Given the description of an element on the screen output the (x, y) to click on. 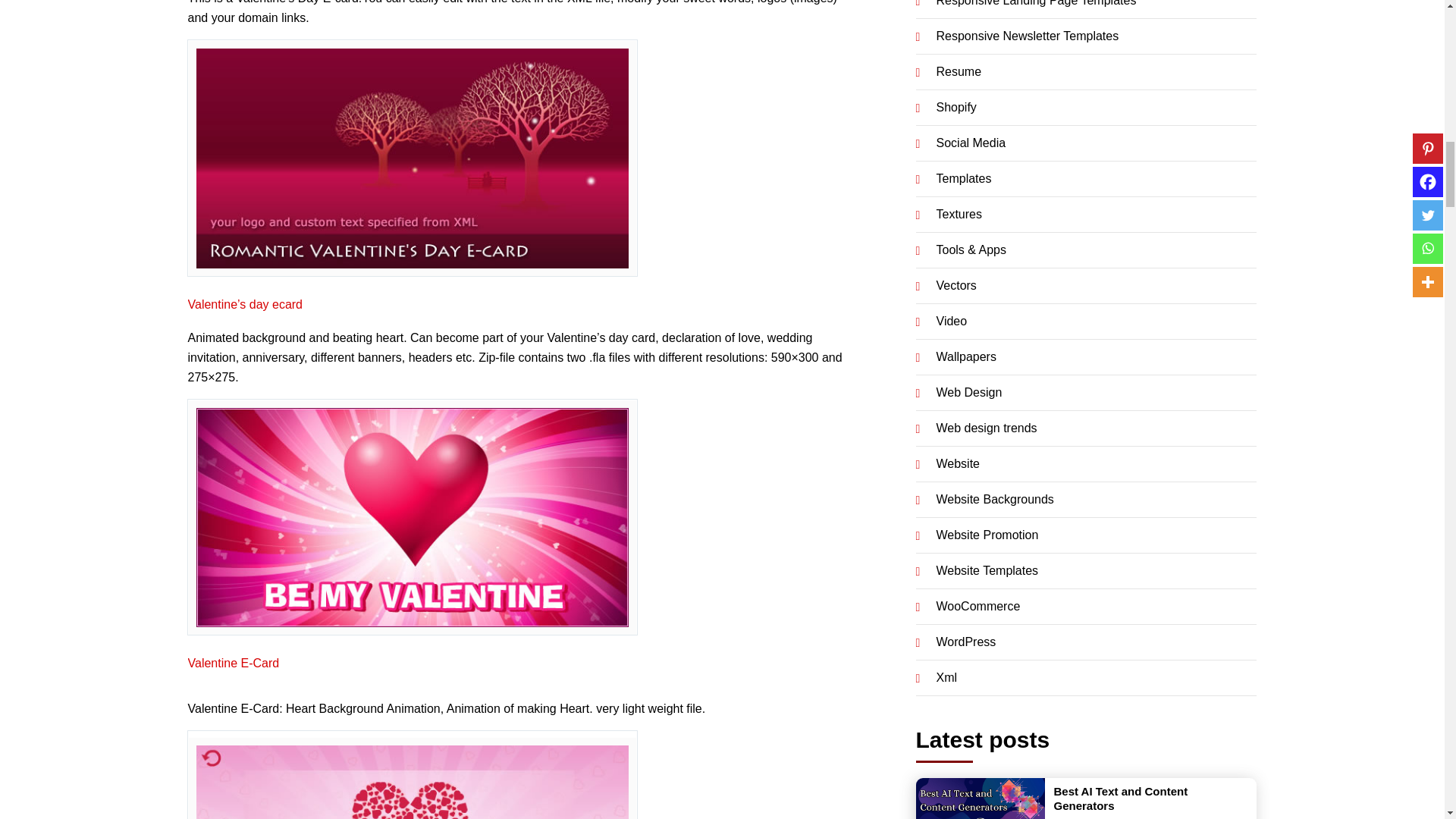
Valentine E-Card (233, 663)
